Given the description of an element on the screen output the (x, y) to click on. 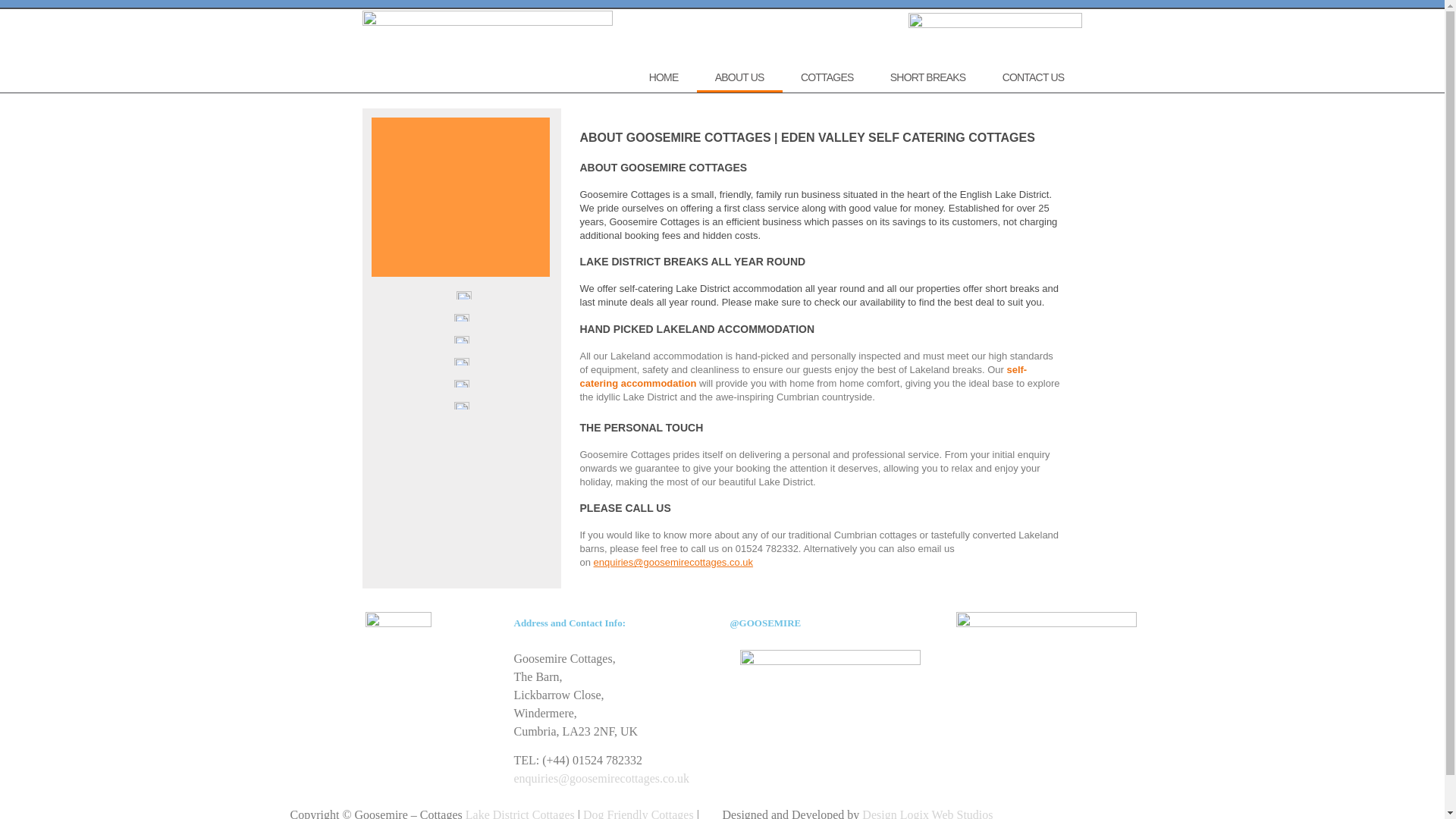
Design Logix Web Studios (926, 813)
CONTACT US (1033, 77)
COTTAGES (827, 77)
ABOUT US (740, 77)
Lake District Cottages (520, 813)
Dog Friendly Cottages (638, 813)
SHORT BREAKS (928, 77)
HOME (662, 77)
